Given the description of an element on the screen output the (x, y) to click on. 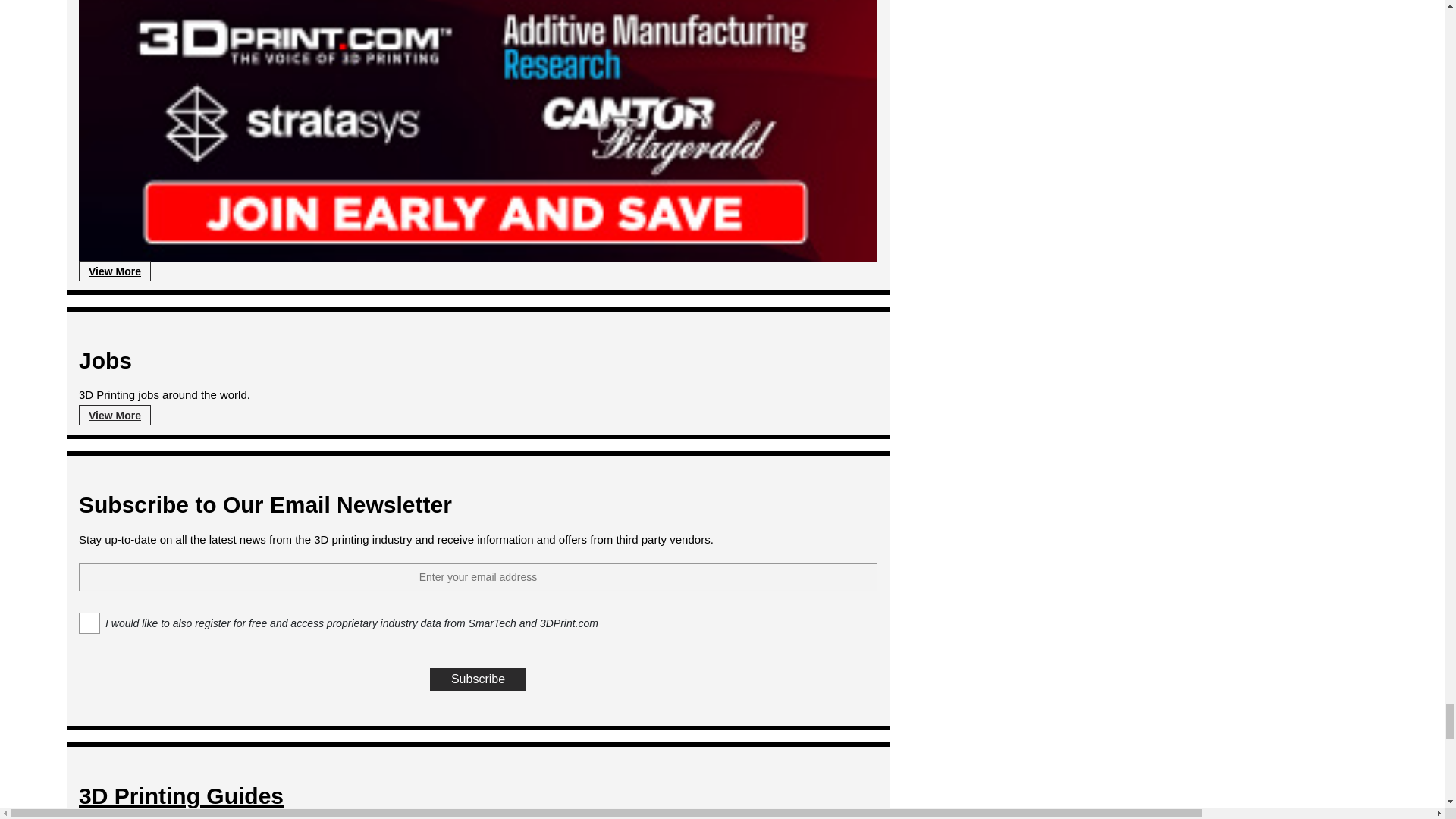
Subscribe (477, 679)
